Given the description of an element on the screen output the (x, y) to click on. 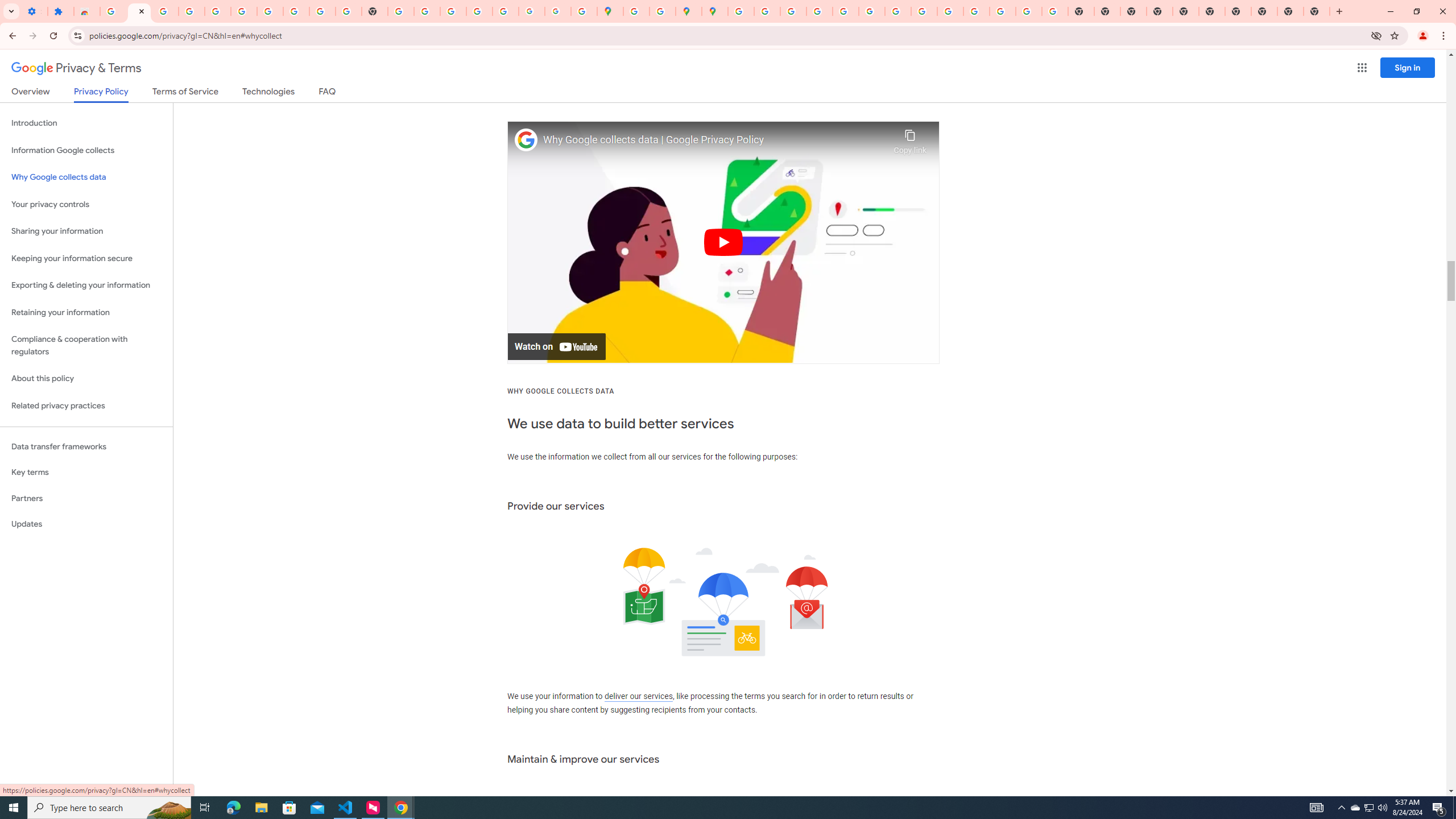
deliver our services (638, 696)
Sign in - Google Accounts (243, 11)
Privacy Help Center - Policies Help (818, 11)
Your privacy controls (86, 204)
Play (723, 242)
